Given the description of an element on the screen output the (x, y) to click on. 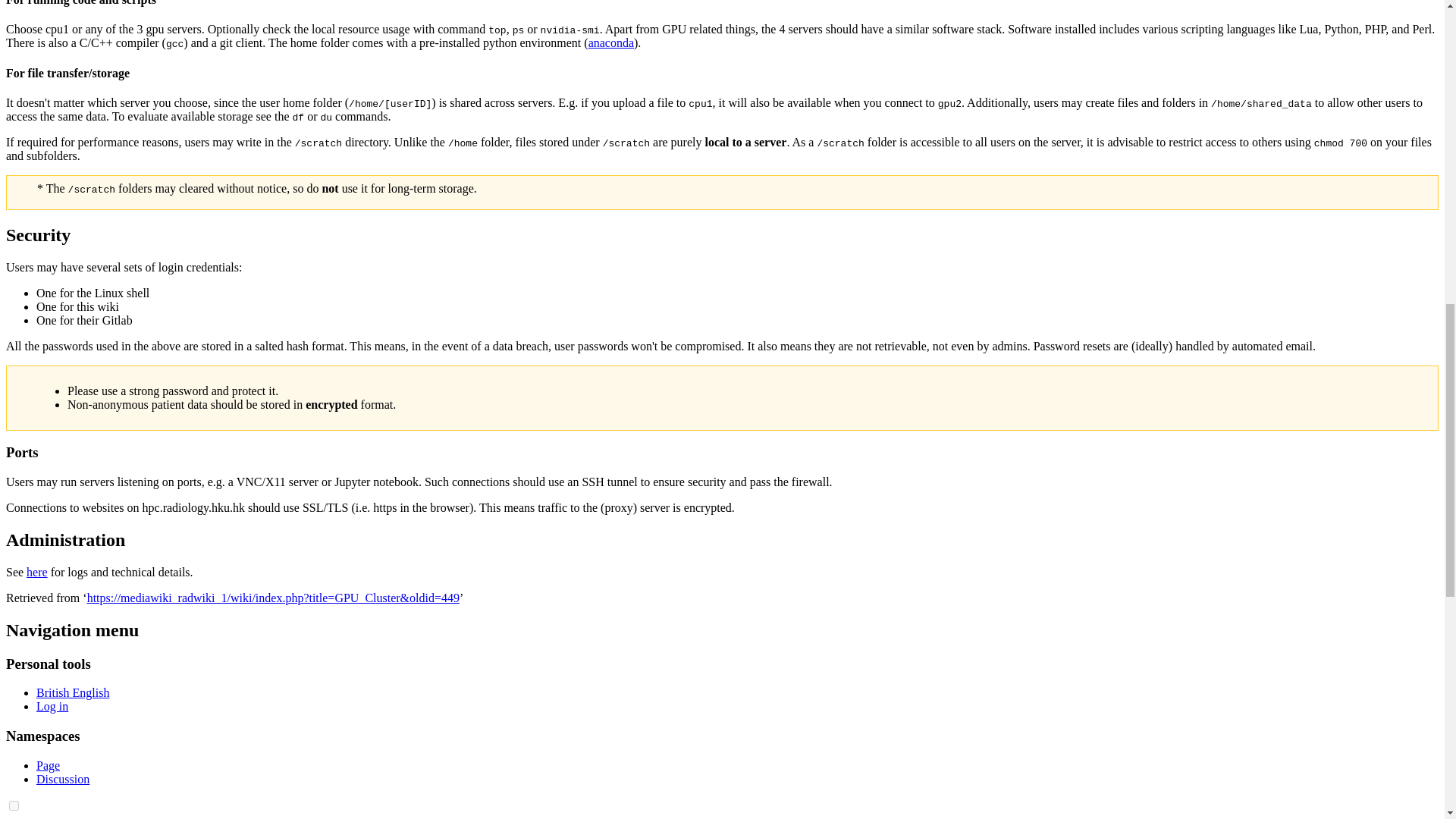
Page (47, 765)
Discussion (62, 779)
Anaconda (610, 42)
on (13, 805)
British English (72, 692)
here (37, 571)
anaconda (610, 42)
Log in (52, 706)
